Given the description of an element on the screen output the (x, y) to click on. 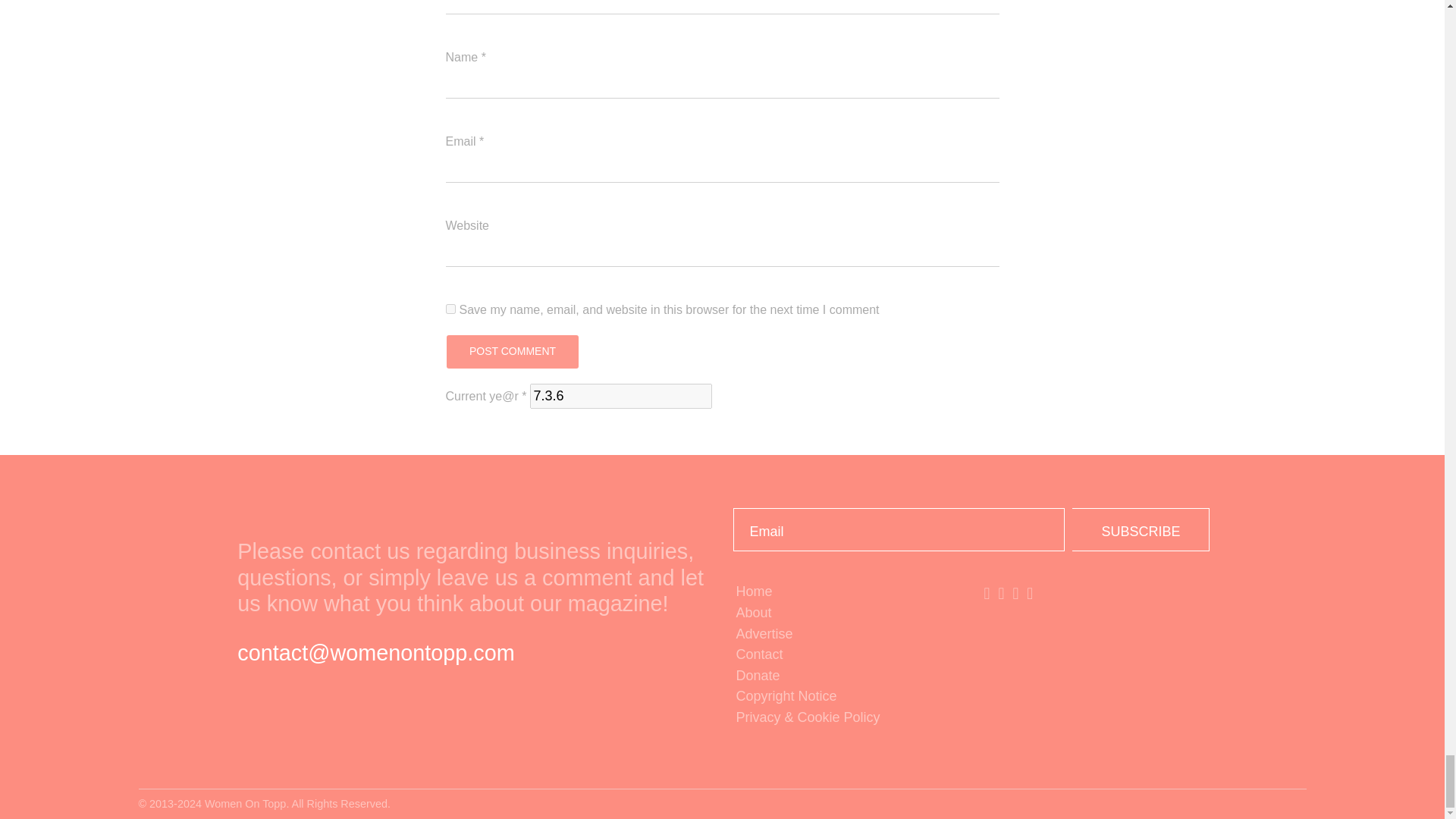
Home (845, 591)
yes (450, 308)
7.3.6 (620, 396)
Post Comment (511, 351)
Contact (845, 654)
Subscribe (1140, 529)
Copyright Notice (845, 696)
About (845, 613)
Donate (845, 676)
Advertise (845, 634)
